Given the description of an element on the screen output the (x, y) to click on. 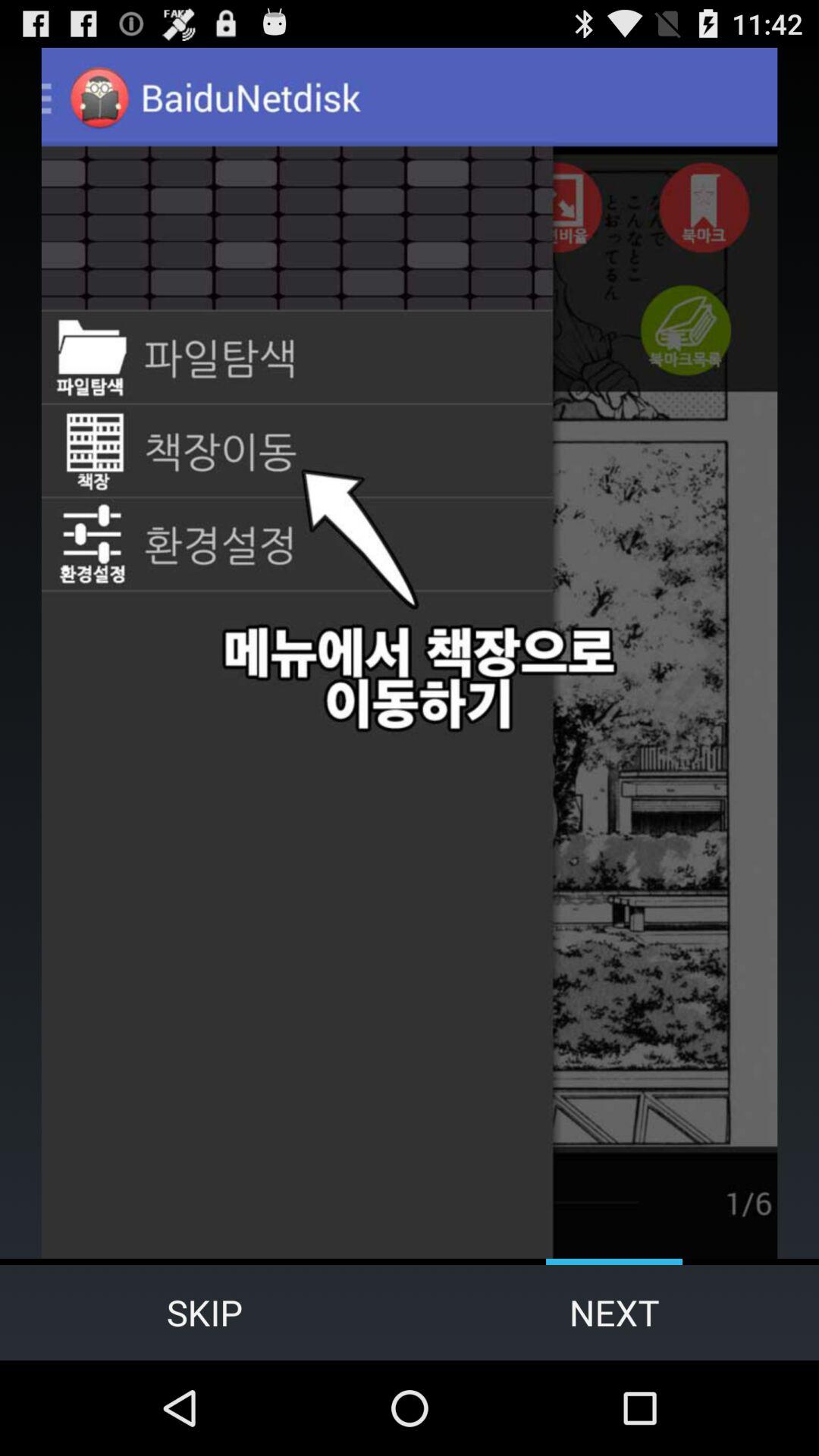
click the item to the right of the skip icon (614, 1312)
